Given the description of an element on the screen output the (x, y) to click on. 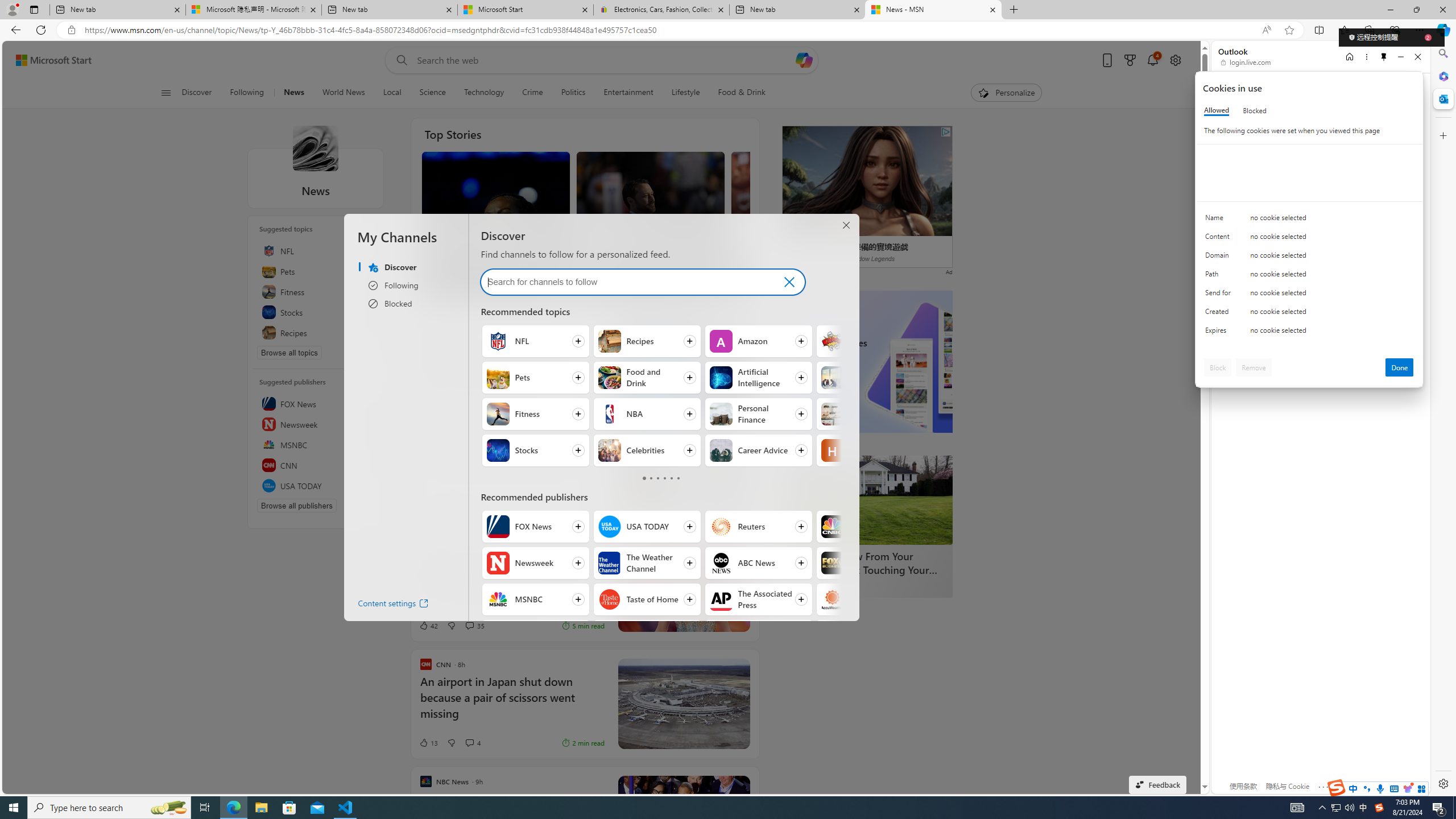
Follow USA TODAY (646, 526)
Follow this topic (367, 332)
171 Like (749, 284)
Use AI To Find Relevant CompsAdComparables.ai (585, 479)
Class: tab-no-click tab  (677, 478)
View comments 16 Comment (640, 284)
New Tab (1014, 9)
Browse all publishers (296, 505)
Refresh (40, 29)
LendingTree (826, 586)
248 Like (441, 284)
Follow NBA (646, 413)
Home Decor (832, 413)
